Given the description of an element on the screen output the (x, y) to click on. 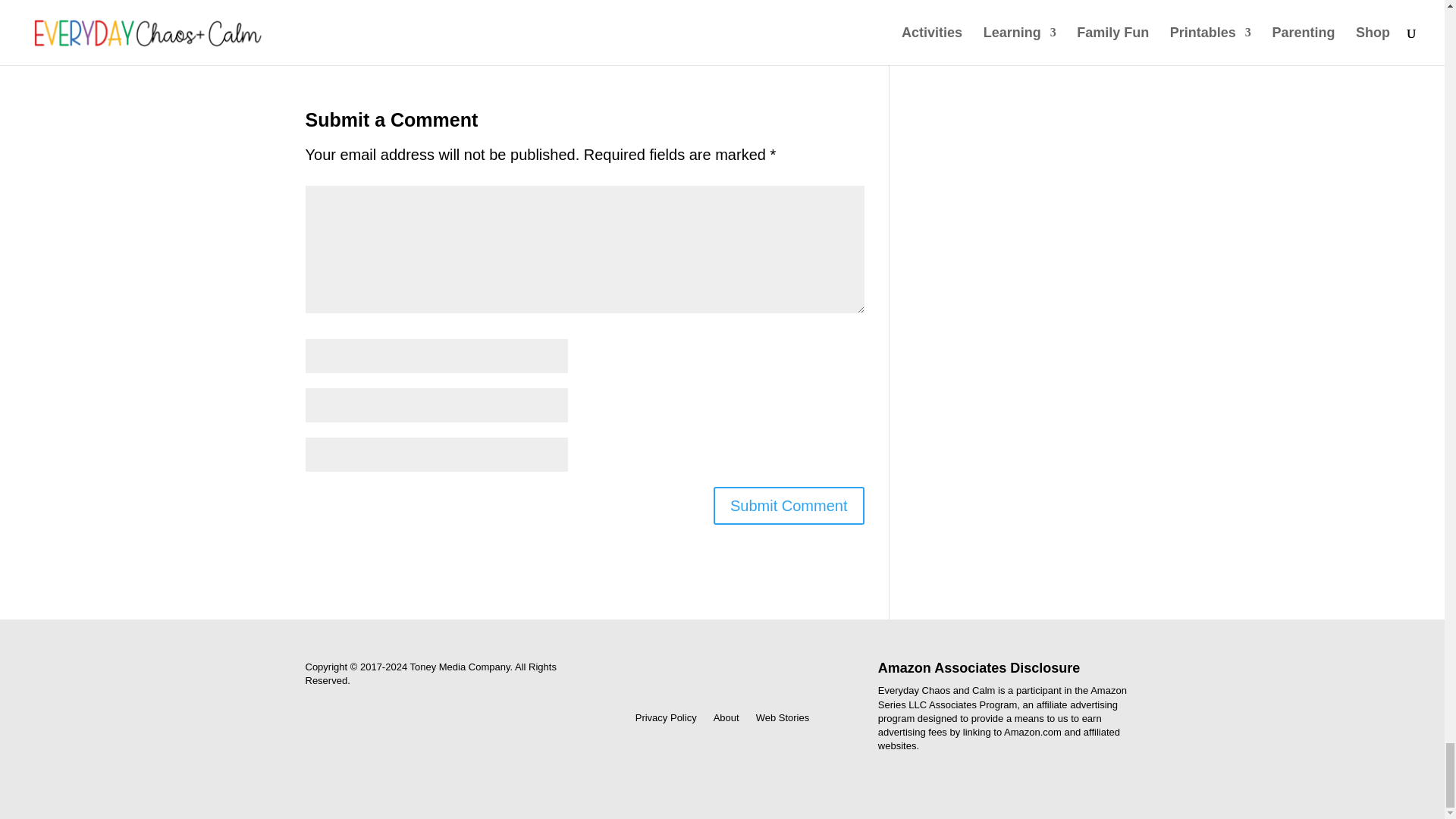
Share on X (493, 12)
Send over email (751, 12)
Share on Facebook (363, 12)
Tweet (493, 12)
Share (363, 12)
Save to Pinterest (622, 12)
Submit Comment (788, 505)
